Given the description of an element on the screen output the (x, y) to click on. 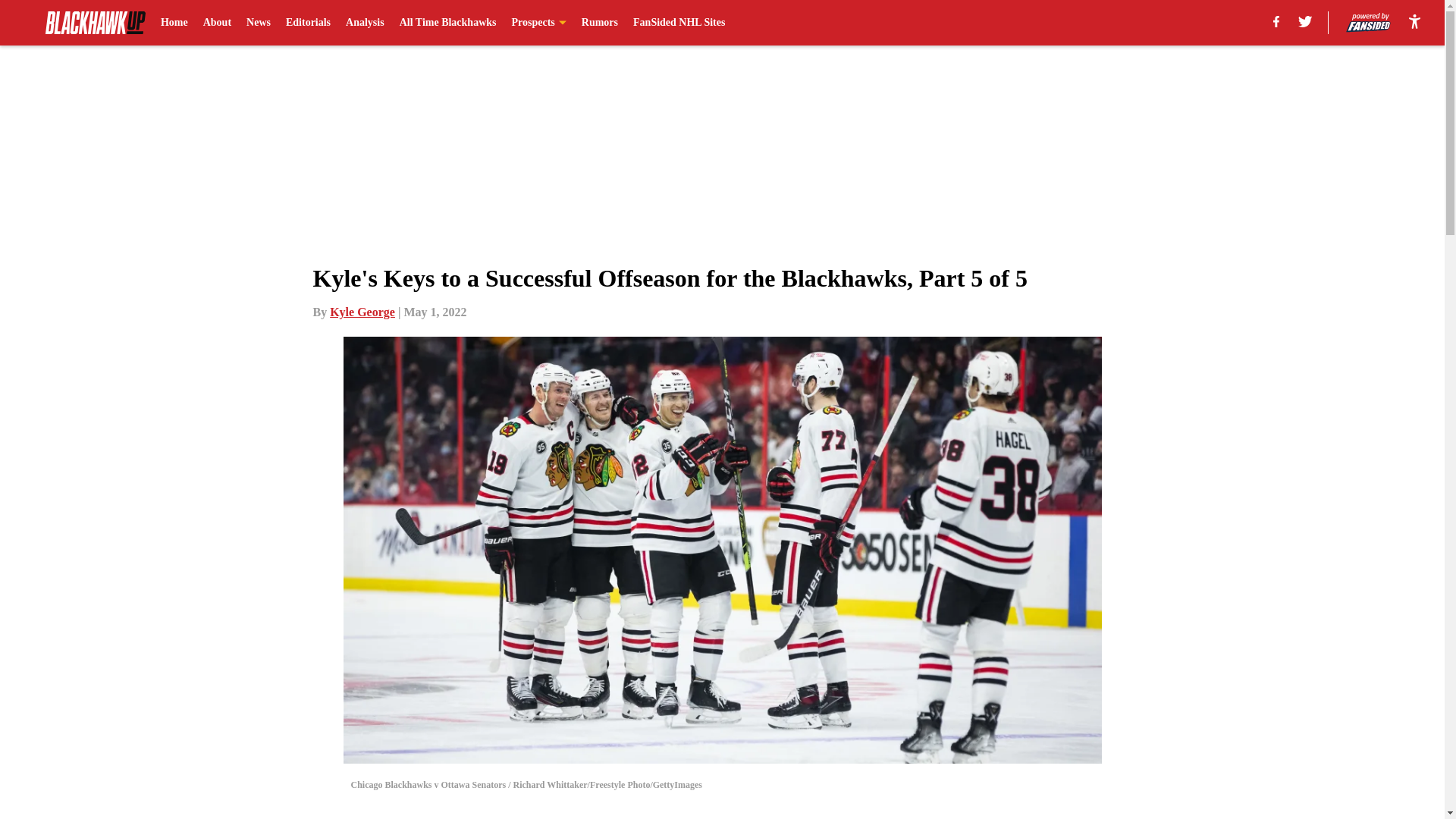
Analysis (365, 22)
Editorials (307, 22)
Rumors (598, 22)
News (258, 22)
About (217, 22)
All Time Blackhawks (447, 22)
Home (173, 22)
Kyle George (362, 311)
FanSided NHL Sites (679, 22)
